Given the description of an element on the screen output the (x, y) to click on. 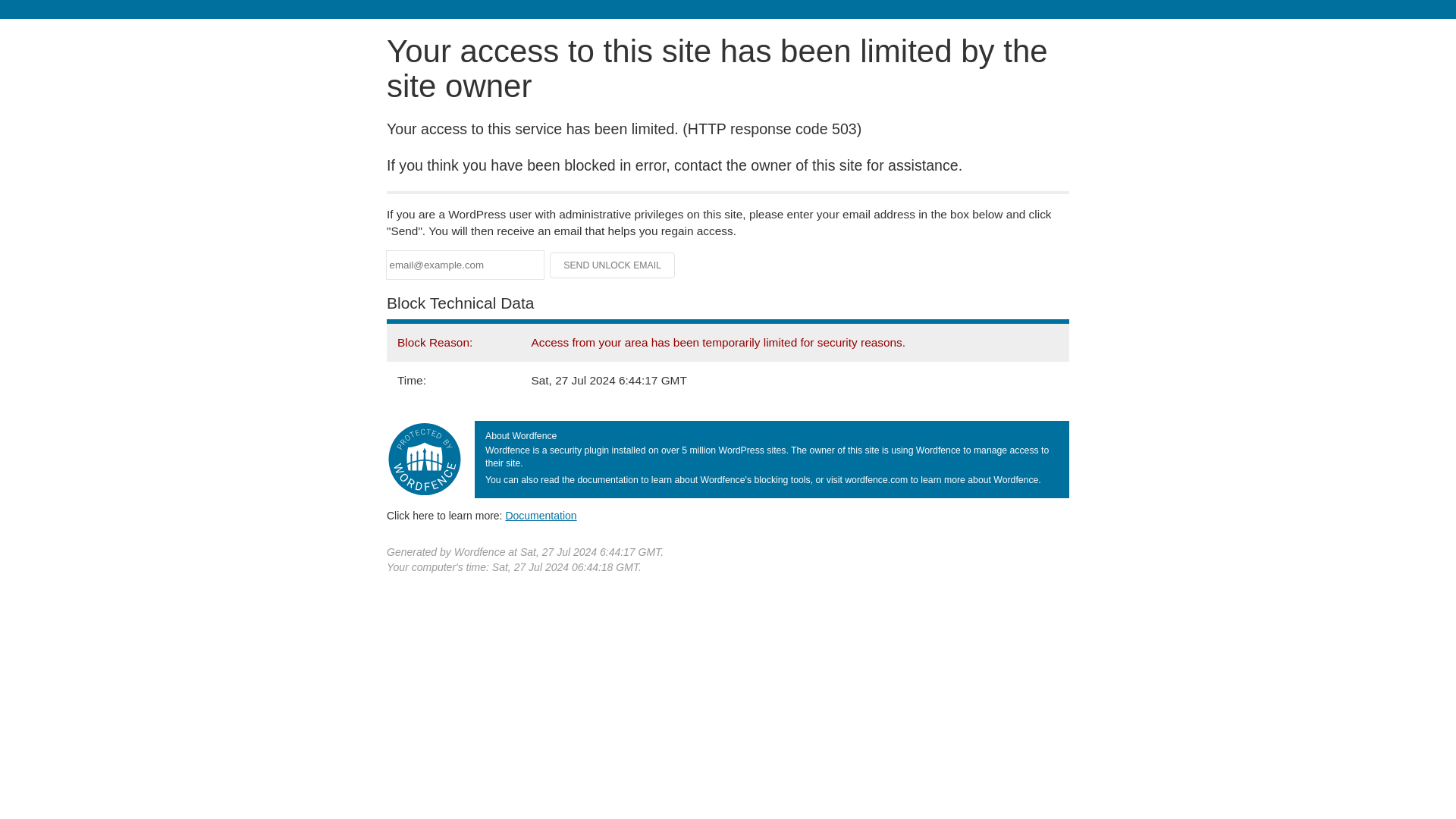
Documentation (540, 515)
Send Unlock Email (612, 265)
Send Unlock Email (612, 265)
